Given the description of an element on the screen output the (x, y) to click on. 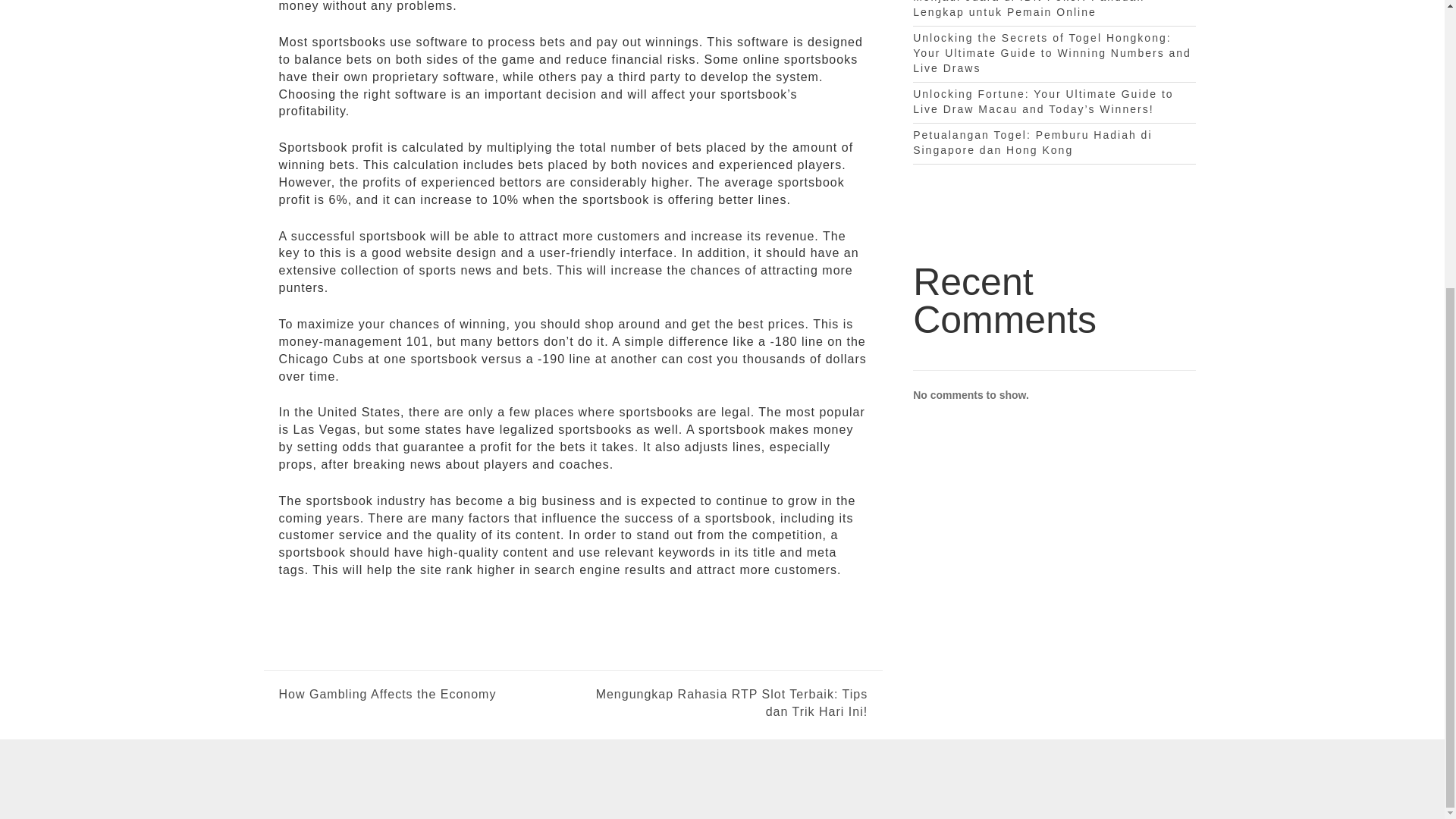
How Gambling Affects the Economy (387, 694)
Mengungkap Rahasia RTP Slot Terbaik: Tips dan Trik Hari Ini! (720, 703)
Petualangan Togel: Pemburu Hadiah di Singapore dan Hong Kong (1031, 142)
